Given the description of an element on the screen output the (x, y) to click on. 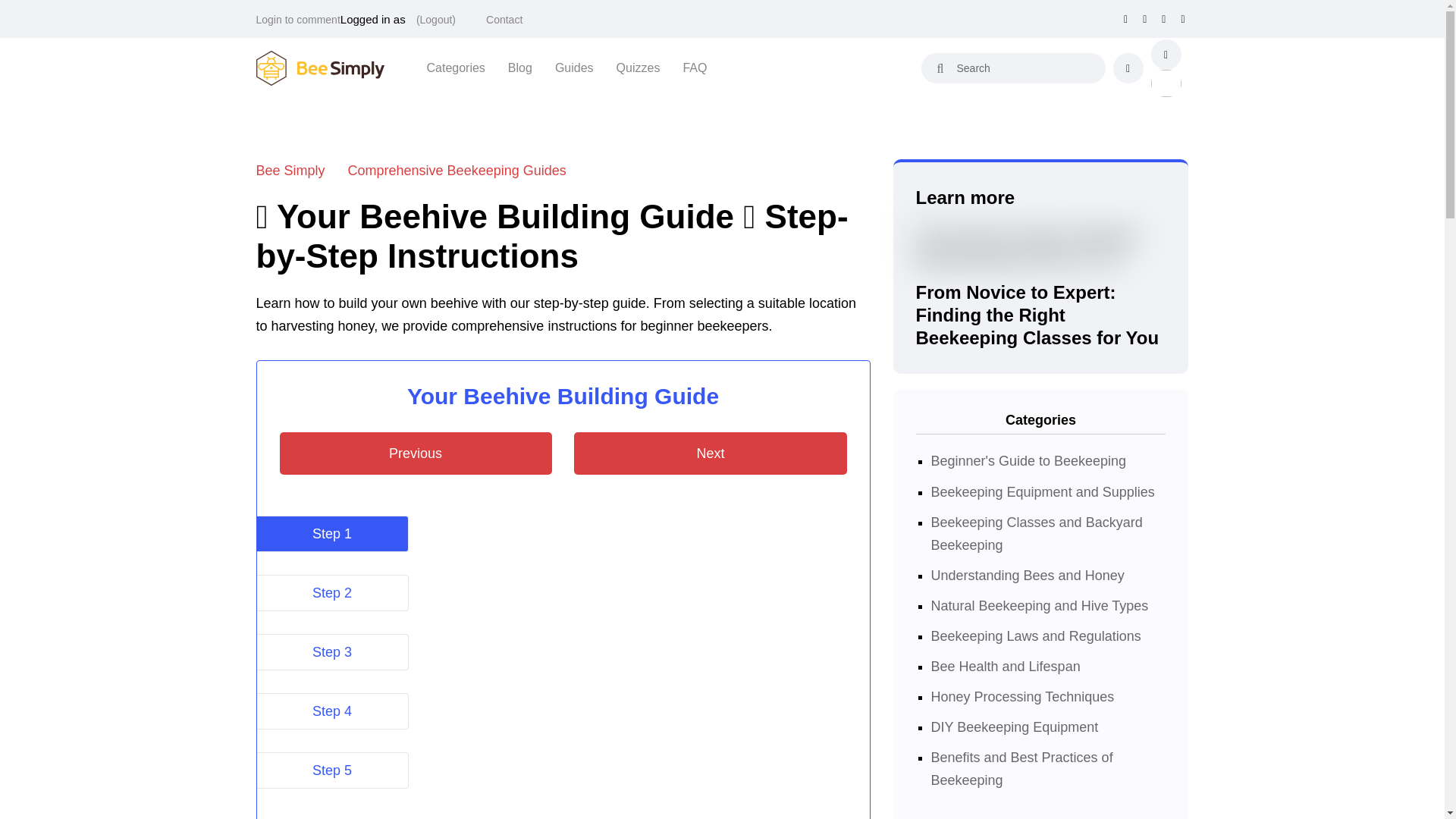
Categories (455, 67)
Contact (504, 19)
Login to comment (298, 19)
